Given the description of an element on the screen output the (x, y) to click on. 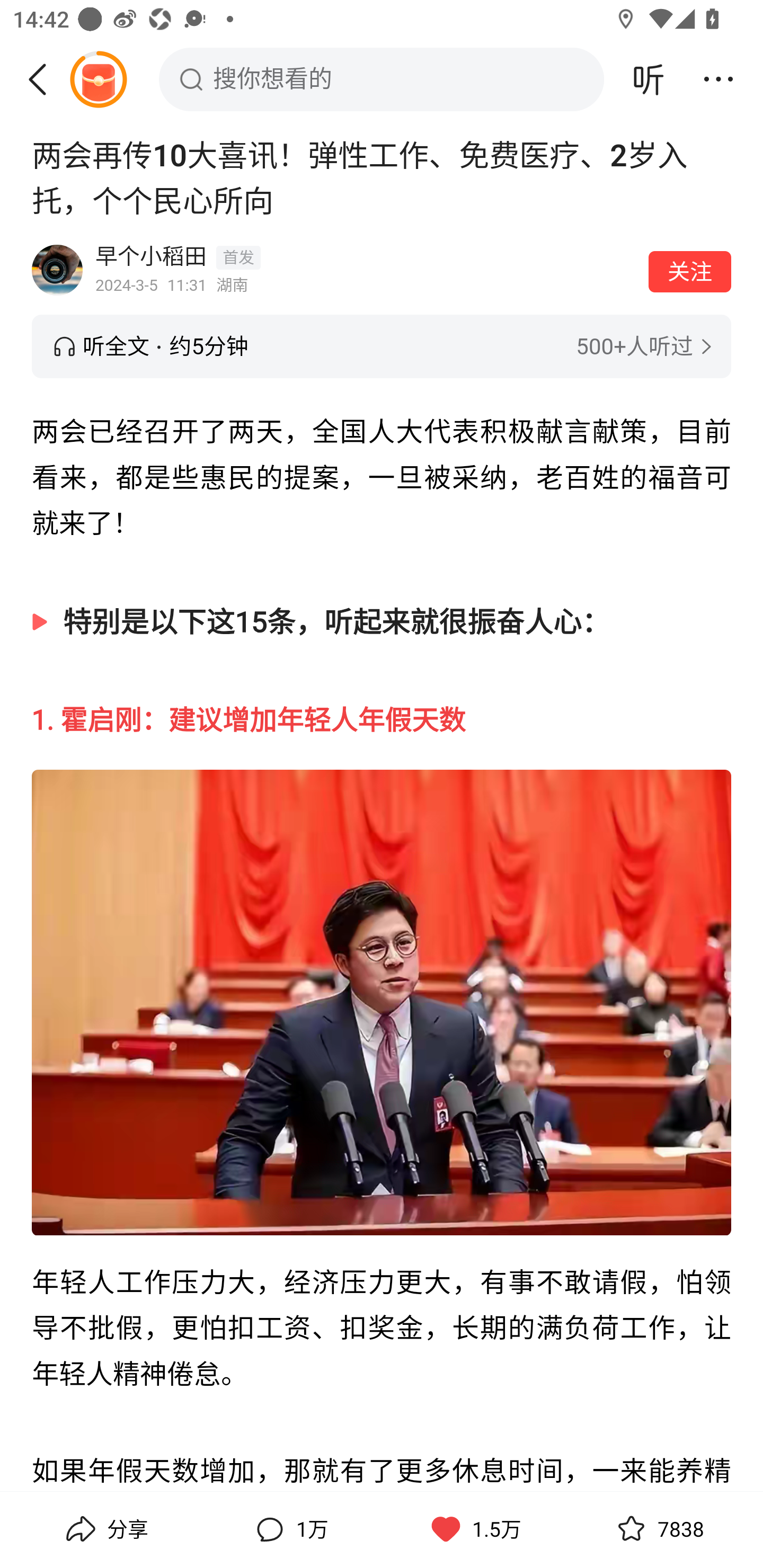
返回 (44, 78)
听头条 (648, 78)
更多操作 (718, 78)
搜你想看的 搜索框，搜你想看的 (381, 79)
阅读赚金币 (98, 79)
作者：早个小稻田，2024-3-5 11:31发布，湖南，首发 (365, 270)
关注作者 (689, 270)
听全文 约5分钟 500+人听过 (381, 346)
图片，点击识别内容 (381, 1003)
分享 (104, 1529)
评论,1万 1万 (288, 1529)
收藏,7838 7838 (658, 1529)
